Given the description of an element on the screen output the (x, y) to click on. 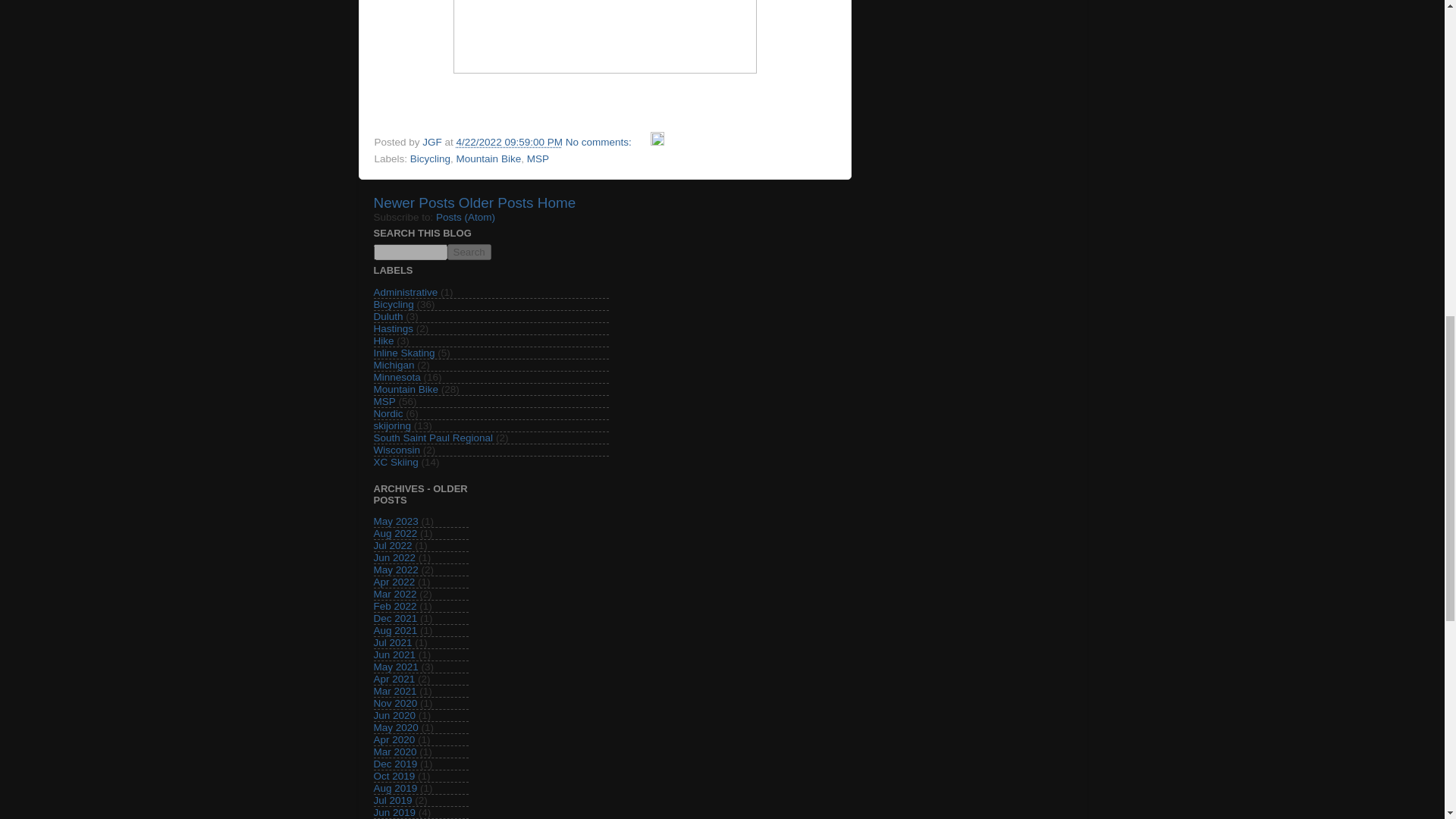
Jun 2022 (393, 557)
Bicycling (429, 158)
skijoring (391, 425)
search (469, 252)
Duluth (387, 316)
author profile (433, 142)
South Saint Paul Regional (432, 437)
No comments: (600, 142)
Edit Post (656, 142)
May 2022 (394, 569)
search (409, 252)
Older Posts (496, 202)
Bicycling (392, 304)
Newer Posts (413, 202)
XC Skiing (394, 461)
